Given the description of an element on the screen output the (x, y) to click on. 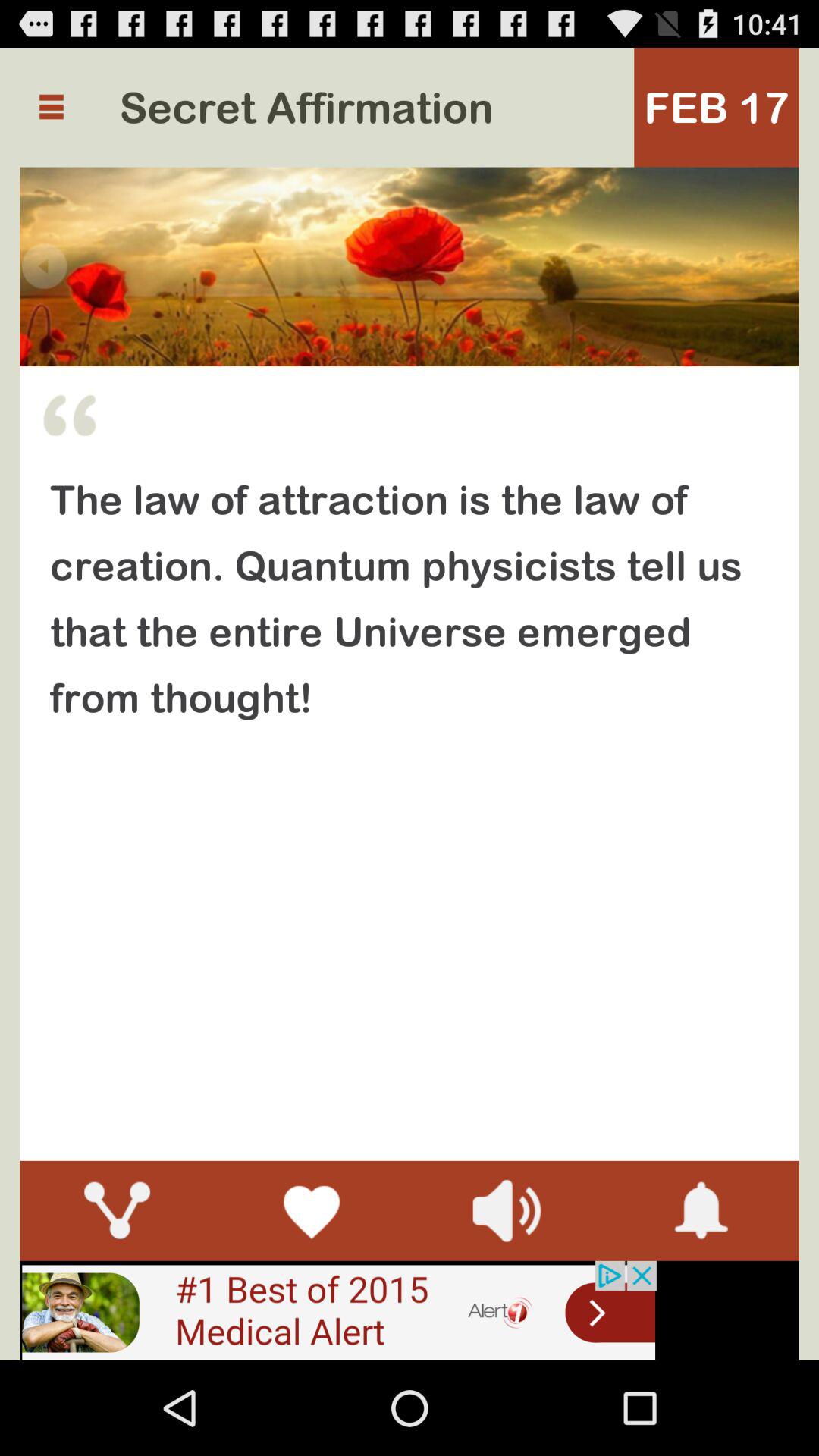
open advertisement (337, 1310)
